Given the description of an element on the screen output the (x, y) to click on. 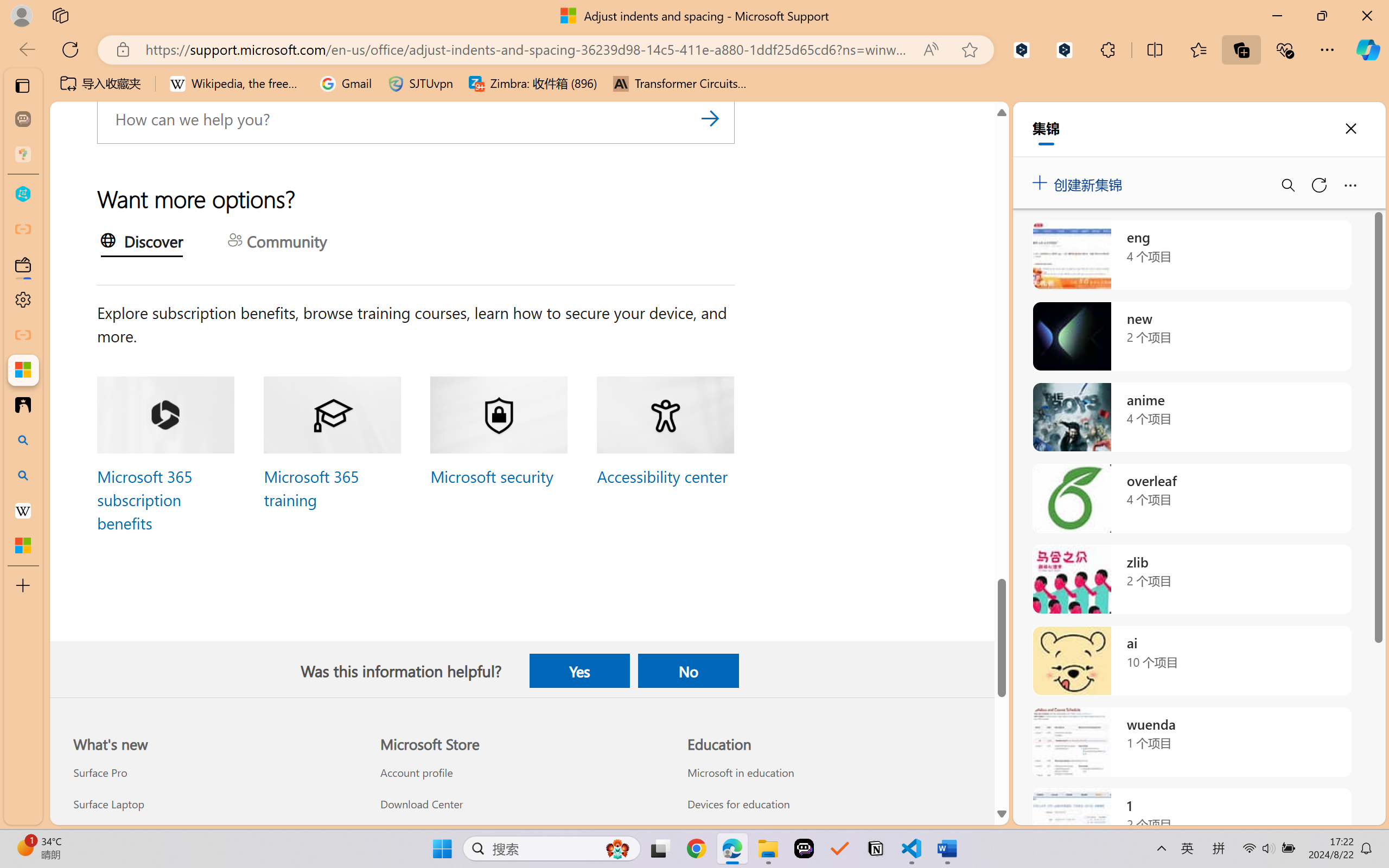
Surface Laptop Studio 2 (214, 835)
Gmail (345, 83)
Transformer Circuits Thread (680, 83)
Microsoft 365 subscription benefits (144, 499)
Copilot (Ctrl+Shift+.) (1368, 49)
